Given the description of an element on the screen output the (x, y) to click on. 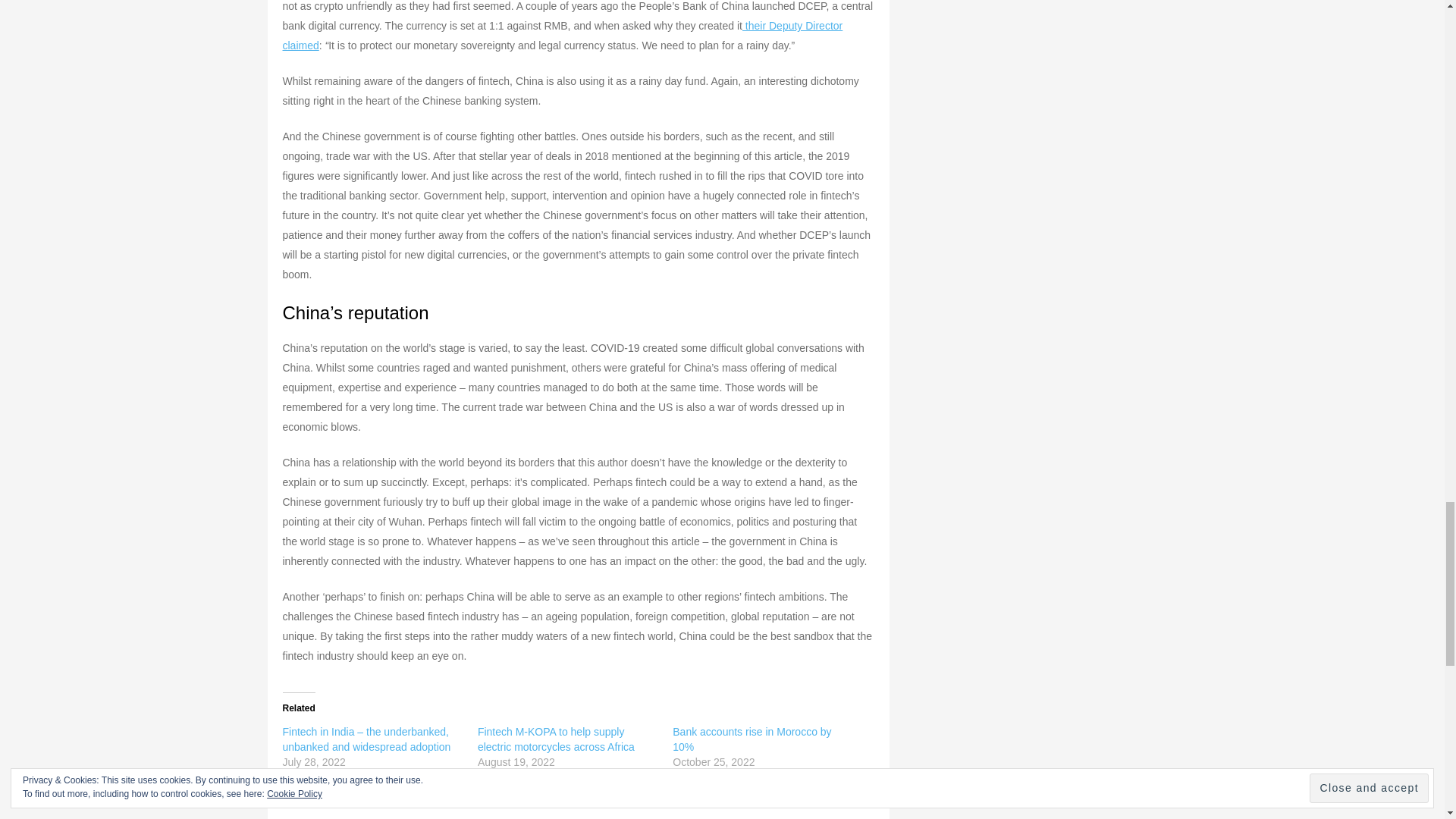
their Deputy Director claimed (562, 35)
